Given the description of an element on the screen output the (x, y) to click on. 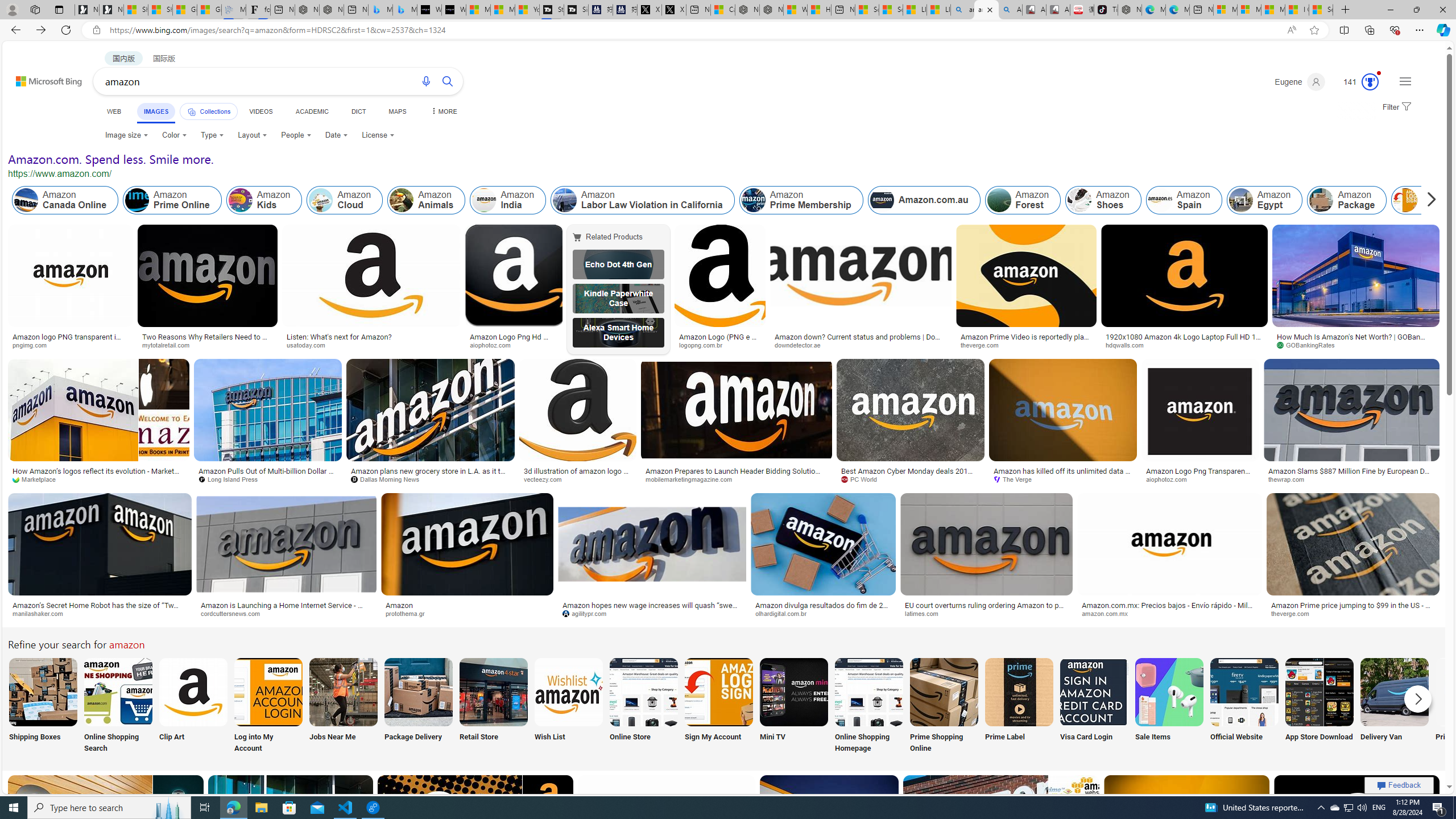
pngimg.com (70, 344)
logopng.com.br (719, 344)
Wish List (568, 706)
License (378, 135)
latimes.com (986, 613)
vecteezy.com (546, 479)
theverge.com (1353, 613)
Echo Dot 4th Gen (617, 264)
